Given the description of an element on the screen output the (x, y) to click on. 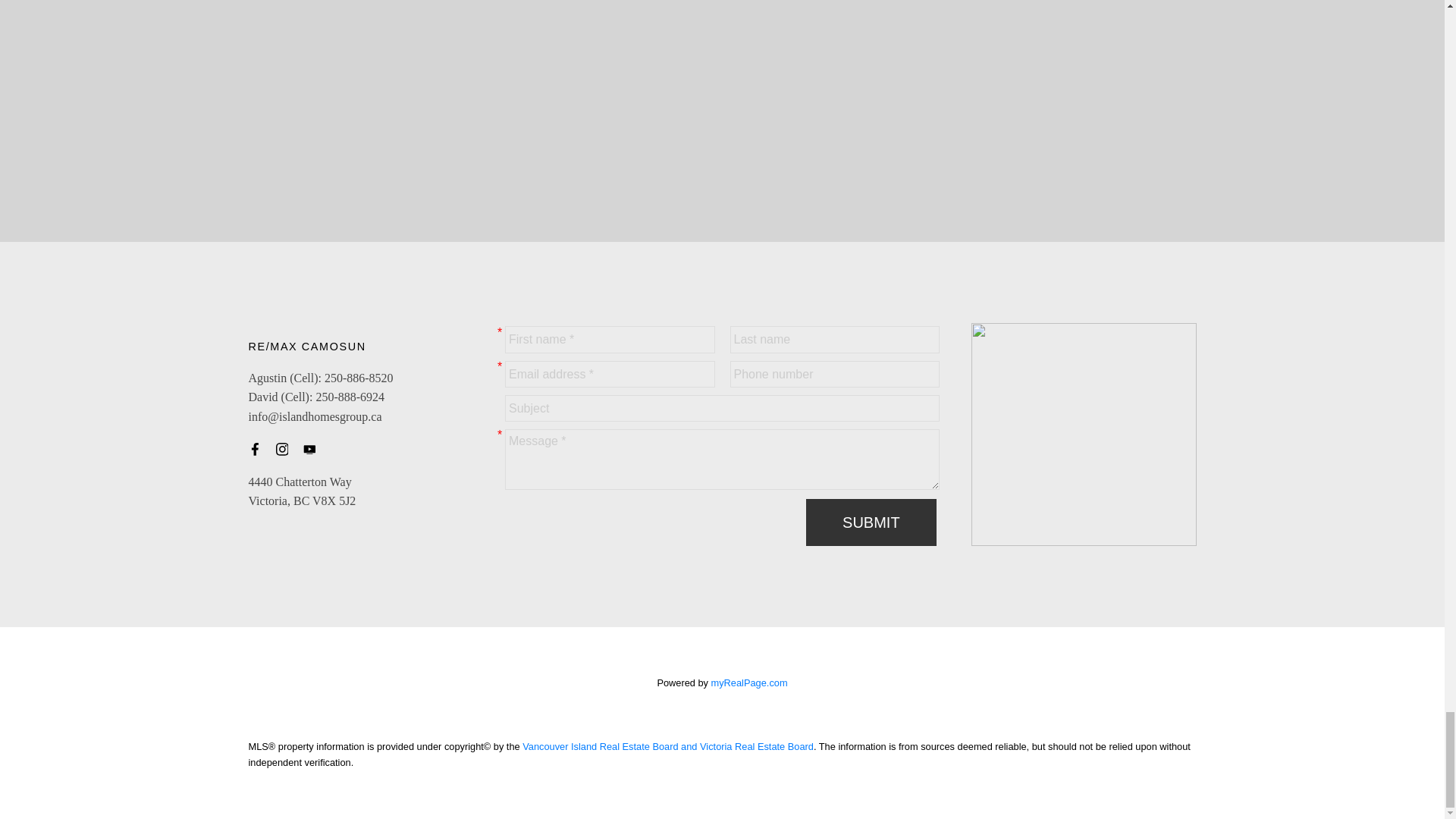
Facebook (258, 449)
instagram (286, 449)
Youtube (313, 449)
